Given the description of an element on the screen output the (x, y) to click on. 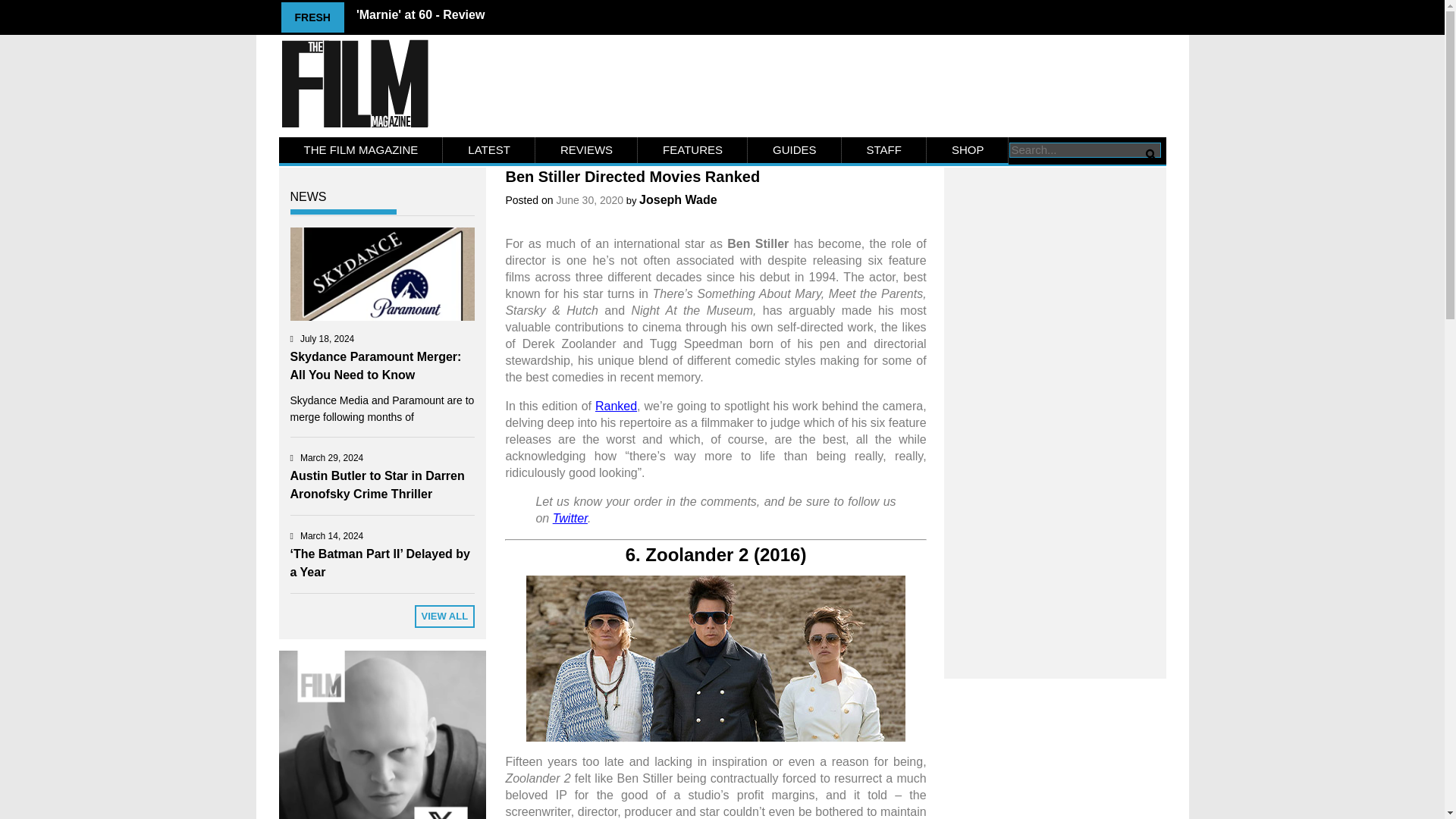
'Marnie' at 60 - Review (420, 14)
THE FILM MAGAZINE (361, 149)
STAFF (883, 149)
SHOP (967, 149)
LATEST (488, 149)
GUIDES (794, 149)
FEATURES (692, 149)
REVIEWS (586, 149)
'Marnie' at 60 - Review (420, 14)
